Given the description of an element on the screen output the (x, y) to click on. 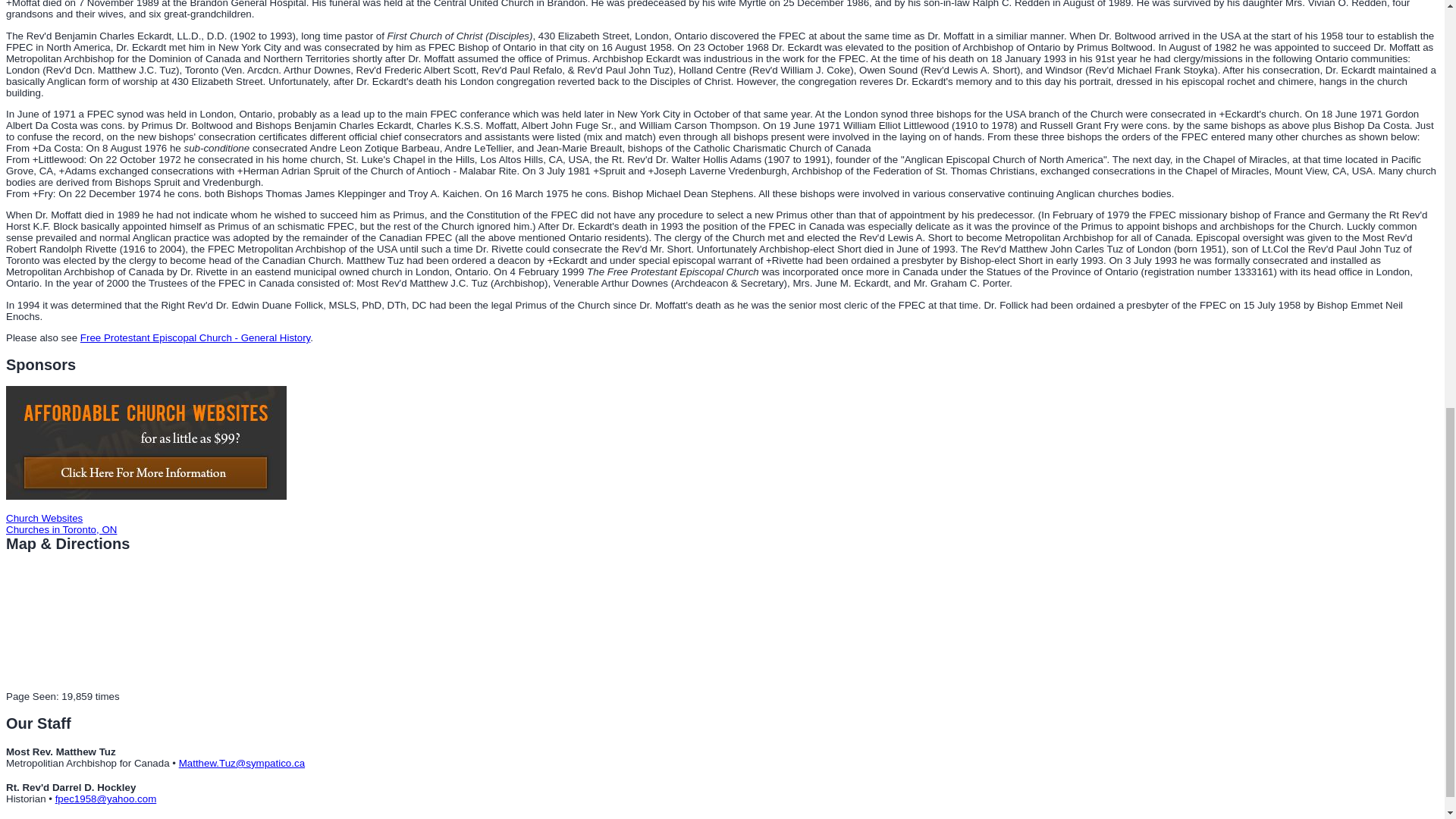
Church Websites (43, 517)
Free Protestant Episcopal Church - General History (195, 337)
Churches in Toronto, ON (60, 529)
